Given the description of an element on the screen output the (x, y) to click on. 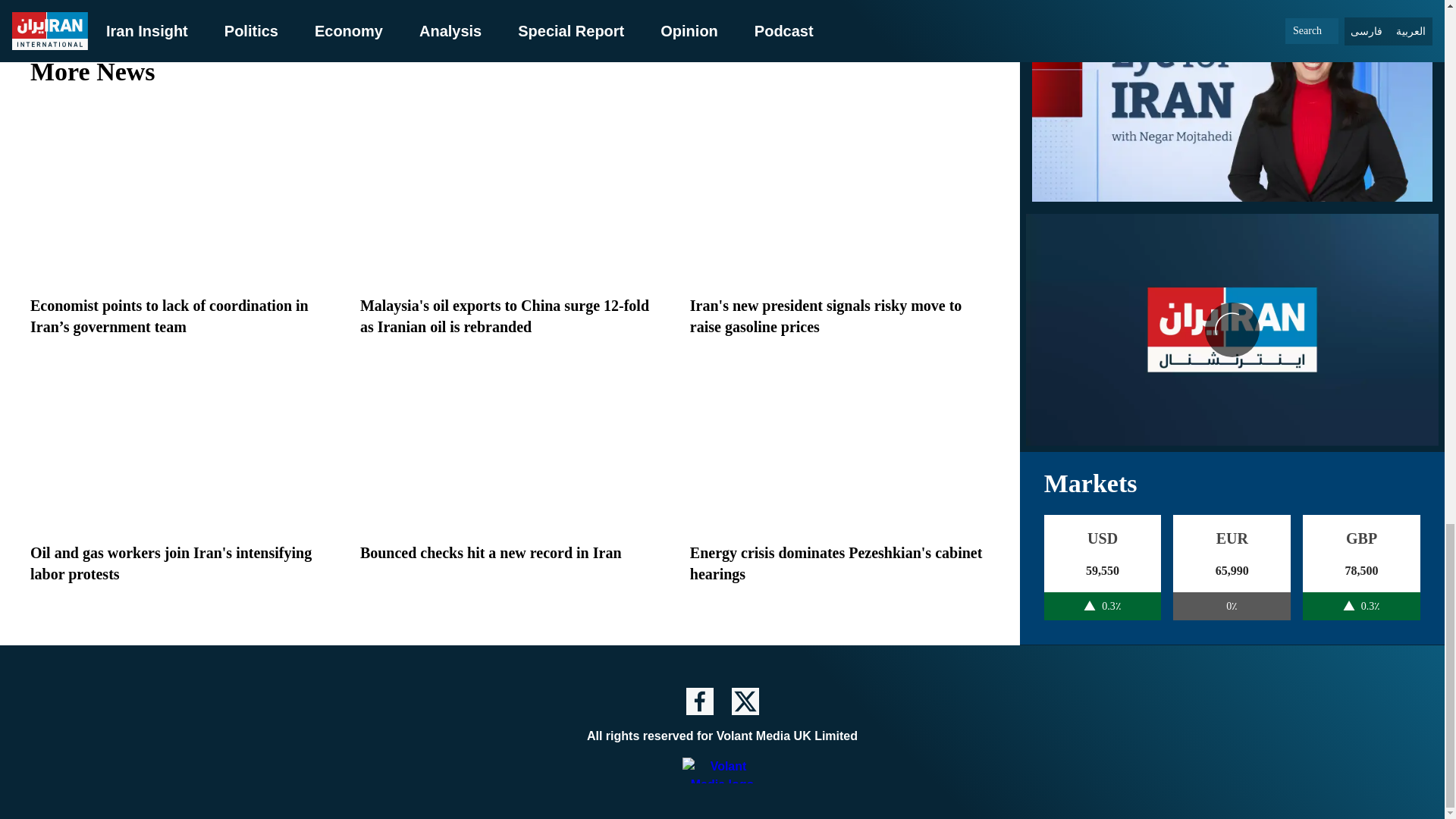
Energy crisis dominates Pezeshkian's cabinet hearings (836, 563)
More News (510, 72)
Bounced checks hit a new record in Iran (490, 552)
Oil and gas workers join Iran's intensifying labor protests (170, 563)
